Given the description of an element on the screen output the (x, y) to click on. 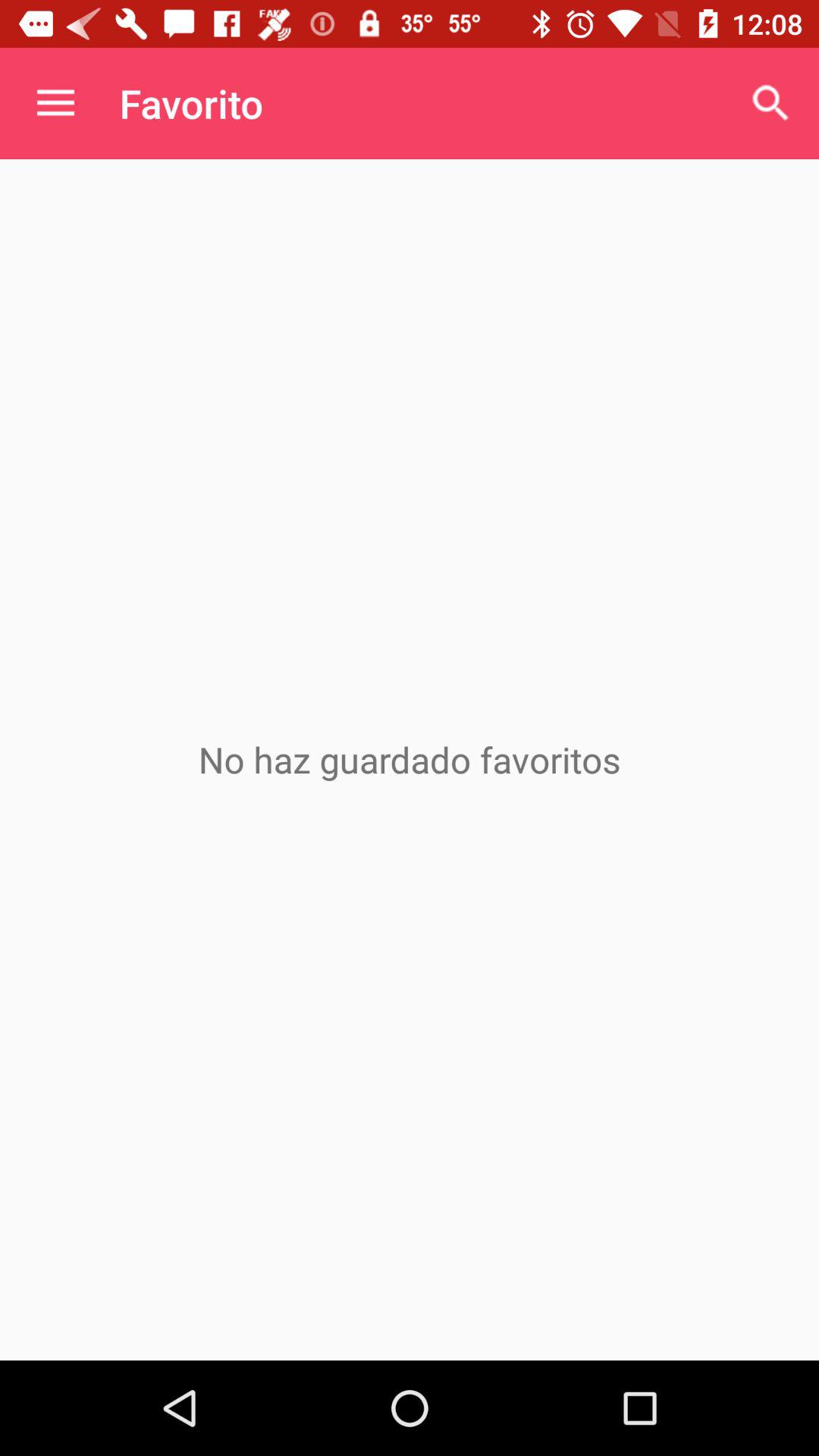
choose icon at the top right corner (771, 103)
